Given the description of an element on the screen output the (x, y) to click on. 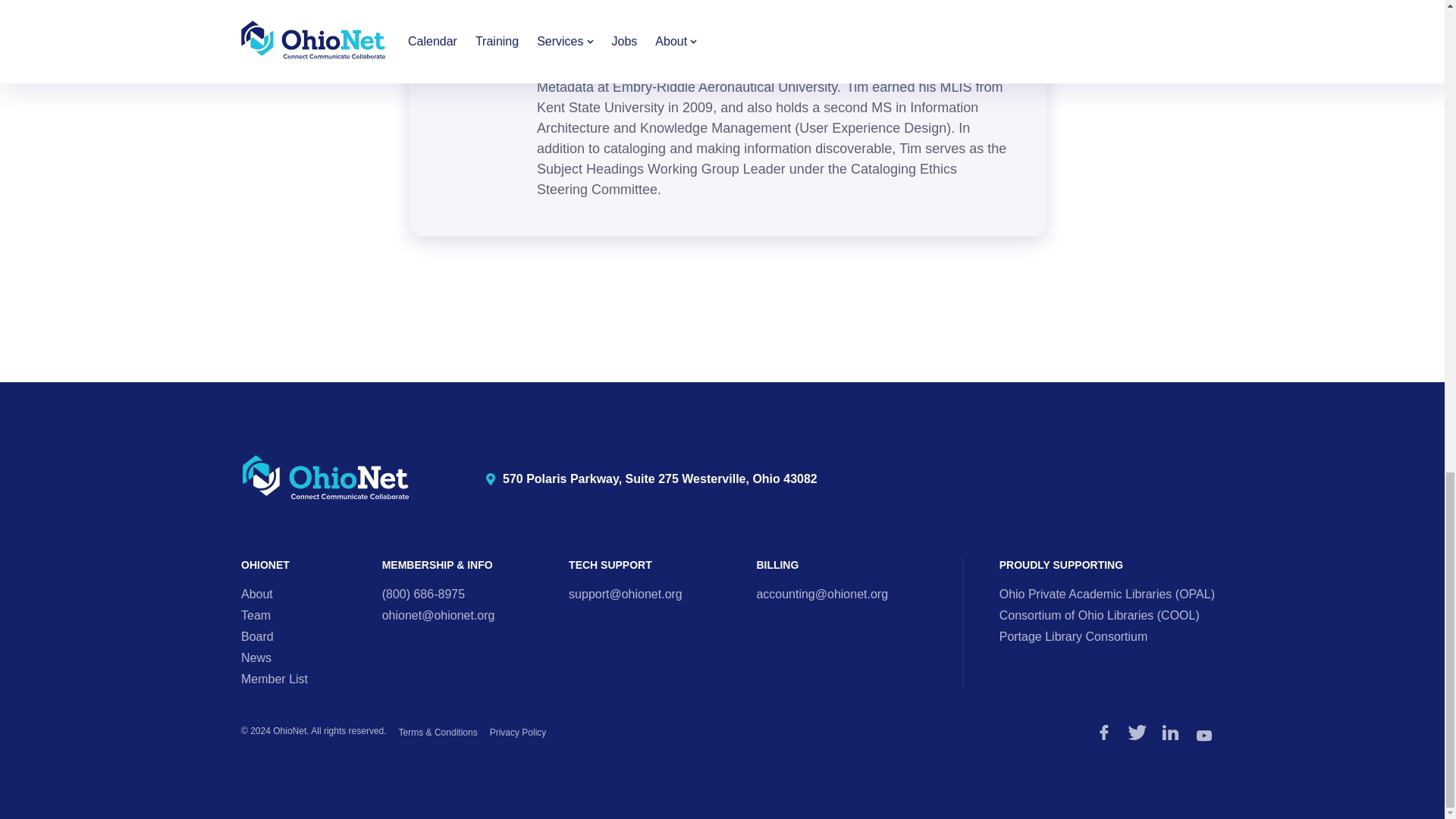
OhioNET - Connect, Communicate, Collaborate. (326, 479)
Twitter (1137, 732)
OhioNET - Connect, Communicate, Collaborate. (326, 477)
News (255, 657)
Facebook (1104, 732)
About (257, 594)
Team (255, 615)
Board (257, 635)
Member List (274, 678)
YouTube (650, 479)
LinkedIn (1203, 735)
